Given the description of an element on the screen output the (x, y) to click on. 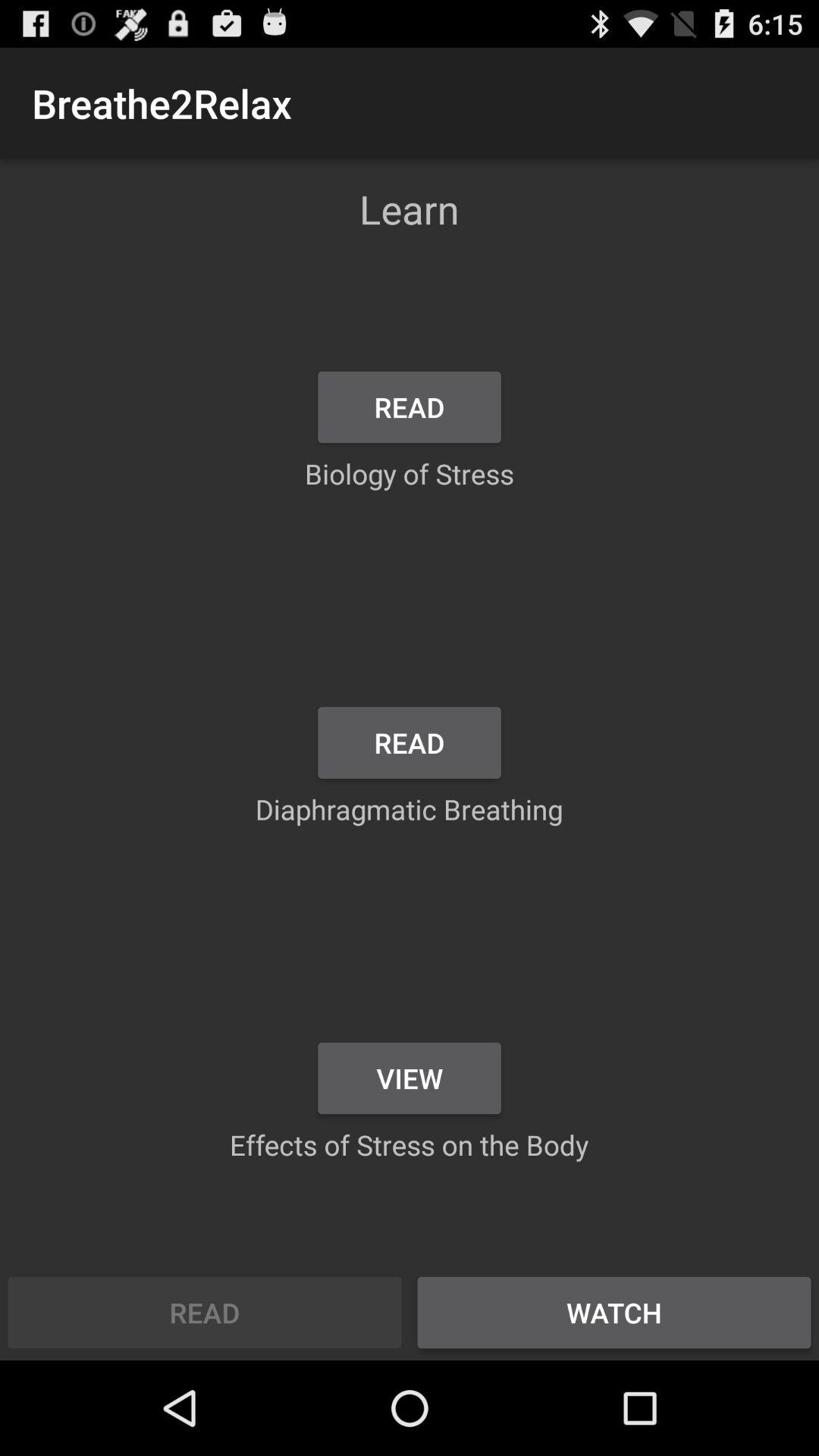
open icon to the right of the read item (614, 1312)
